Given the description of an element on the screen output the (x, y) to click on. 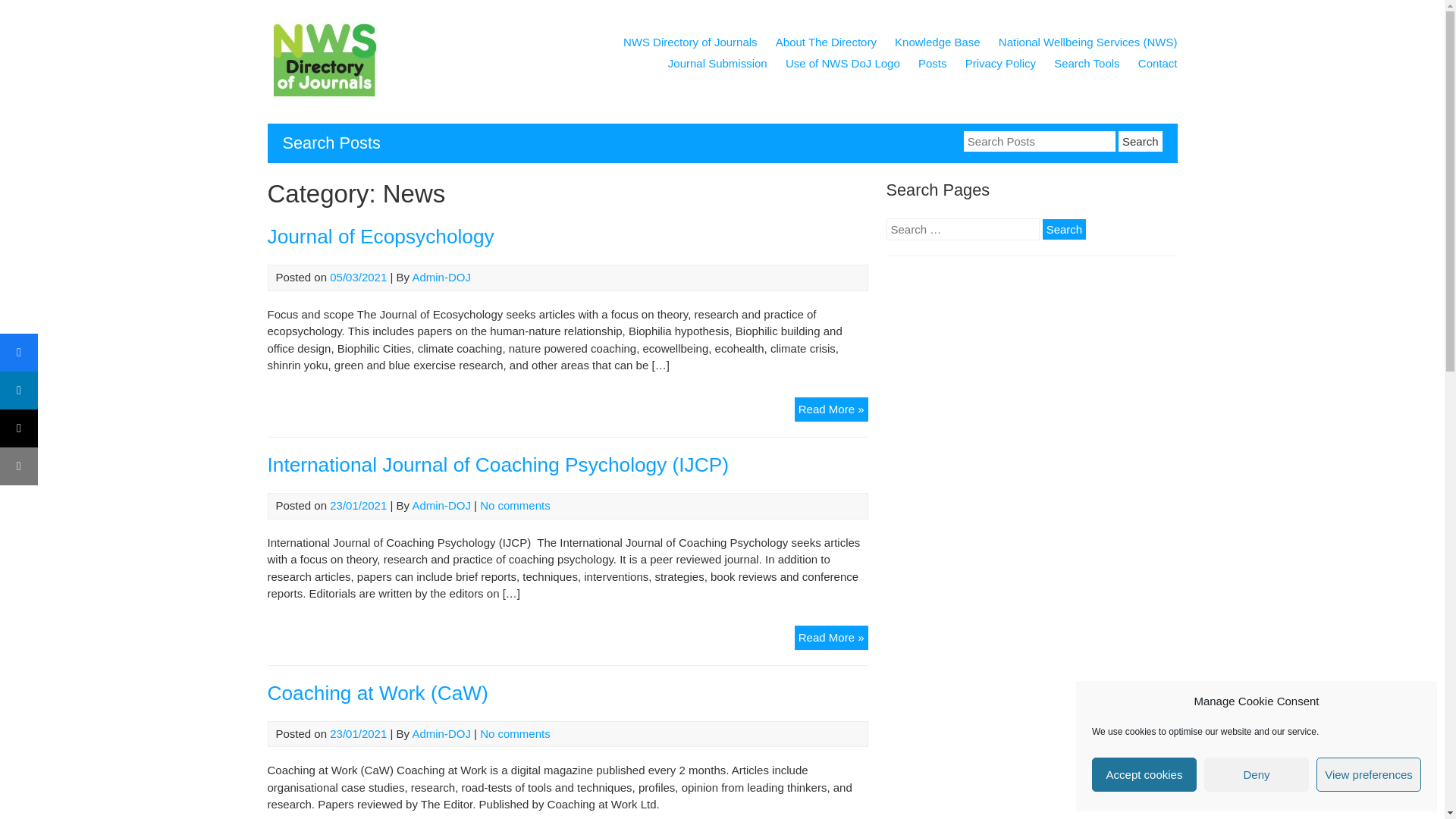
Search (1064, 229)
Search (1139, 140)
Search (1064, 229)
Knowledge Base (937, 44)
About The Directory (826, 44)
Journal Submission (717, 65)
Posts (932, 65)
NWS Directory of Journals (323, 98)
Privacy Policy (1000, 65)
Use of NWS DoJ Logo (842, 65)
NWS Directory of Journals (690, 44)
Search (1139, 140)
Deny (1256, 774)
Permalink to Journal of Ecopsychology (379, 236)
Accept cookies (1144, 774)
